Given the description of an element on the screen output the (x, y) to click on. 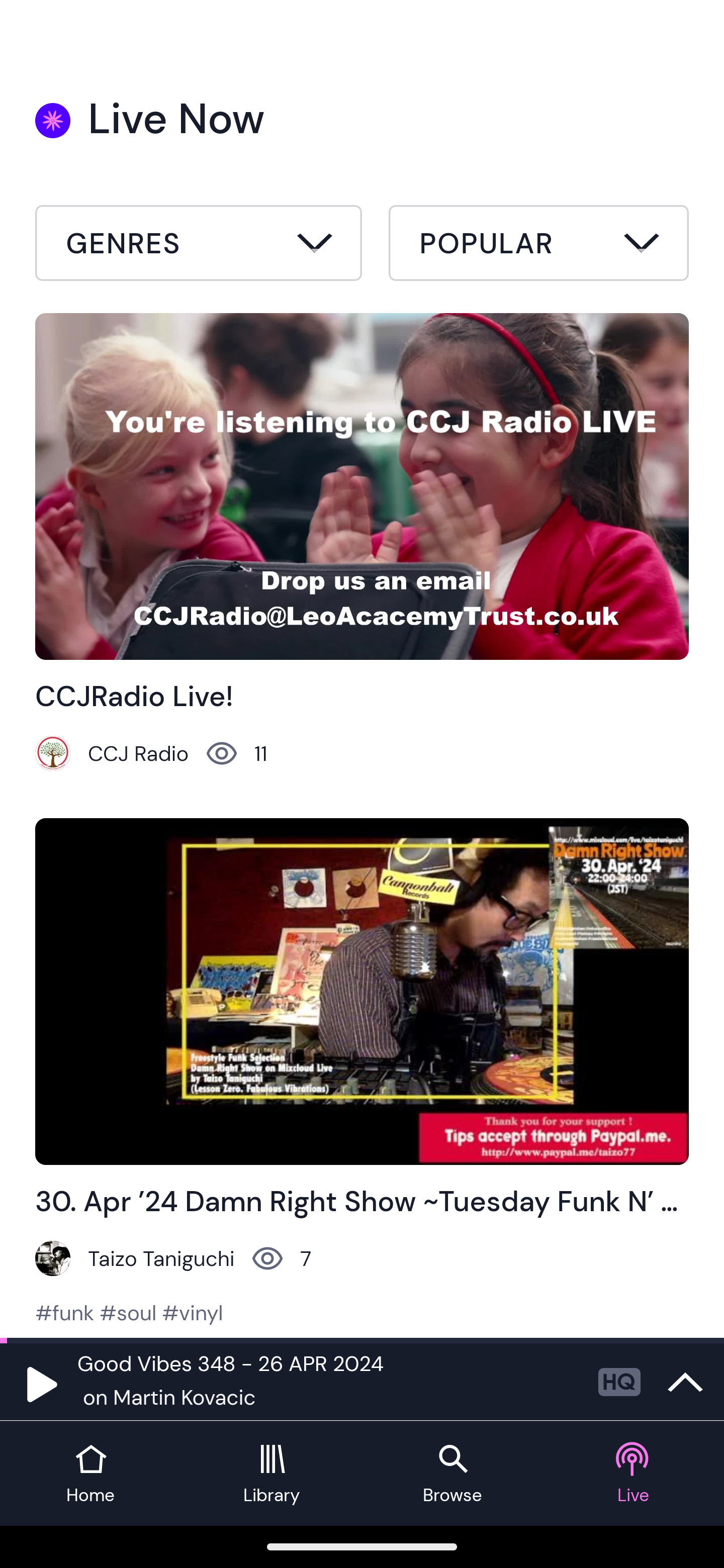
Filter by button All (198, 245)
Sort by button Popular (538, 245)
Home tab Home (90, 1473)
Library tab Library (271, 1473)
Browse tab Browse (452, 1473)
Live tab Live (633, 1473)
